Given the description of an element on the screen output the (x, y) to click on. 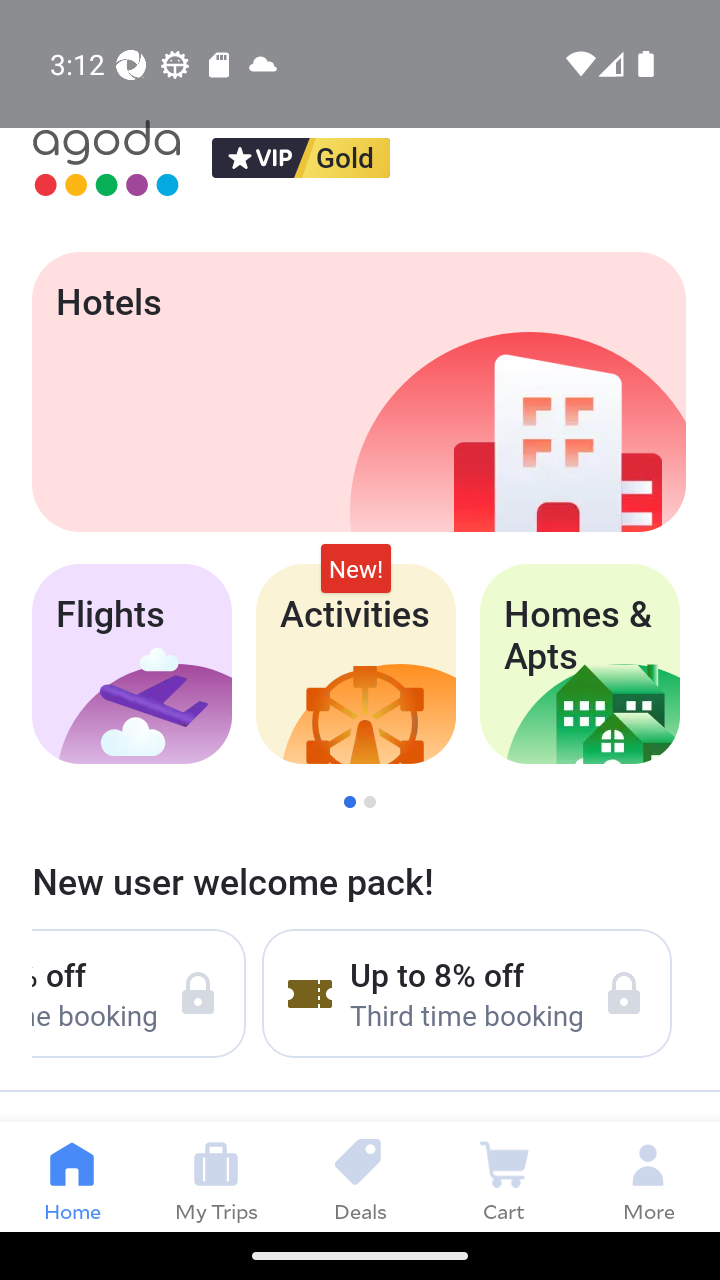
Hotels (358, 392)
New! (355, 568)
Flights (131, 664)
Activities (355, 664)
Homes & Apts (579, 664)
Home (72, 1176)
My Trips (216, 1176)
Deals (360, 1176)
Cart (504, 1176)
More (648, 1176)
